Given the description of an element on the screen output the (x, y) to click on. 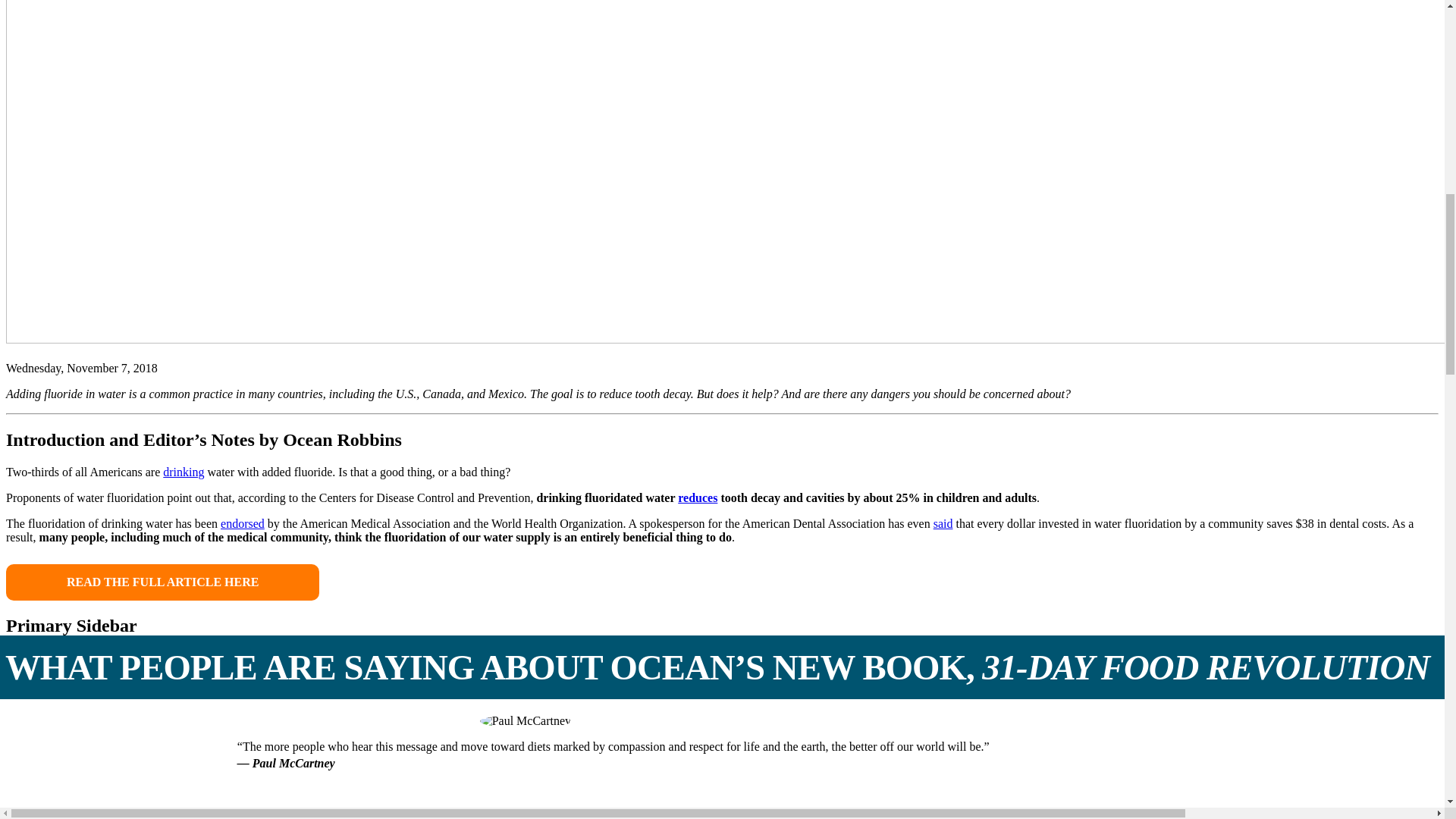
READ THE FULL ARTICLE HERE (161, 582)
said (943, 522)
reduces (697, 497)
drinking (183, 472)
endorsed (242, 522)
